Given the description of an element on the screen output the (x, y) to click on. 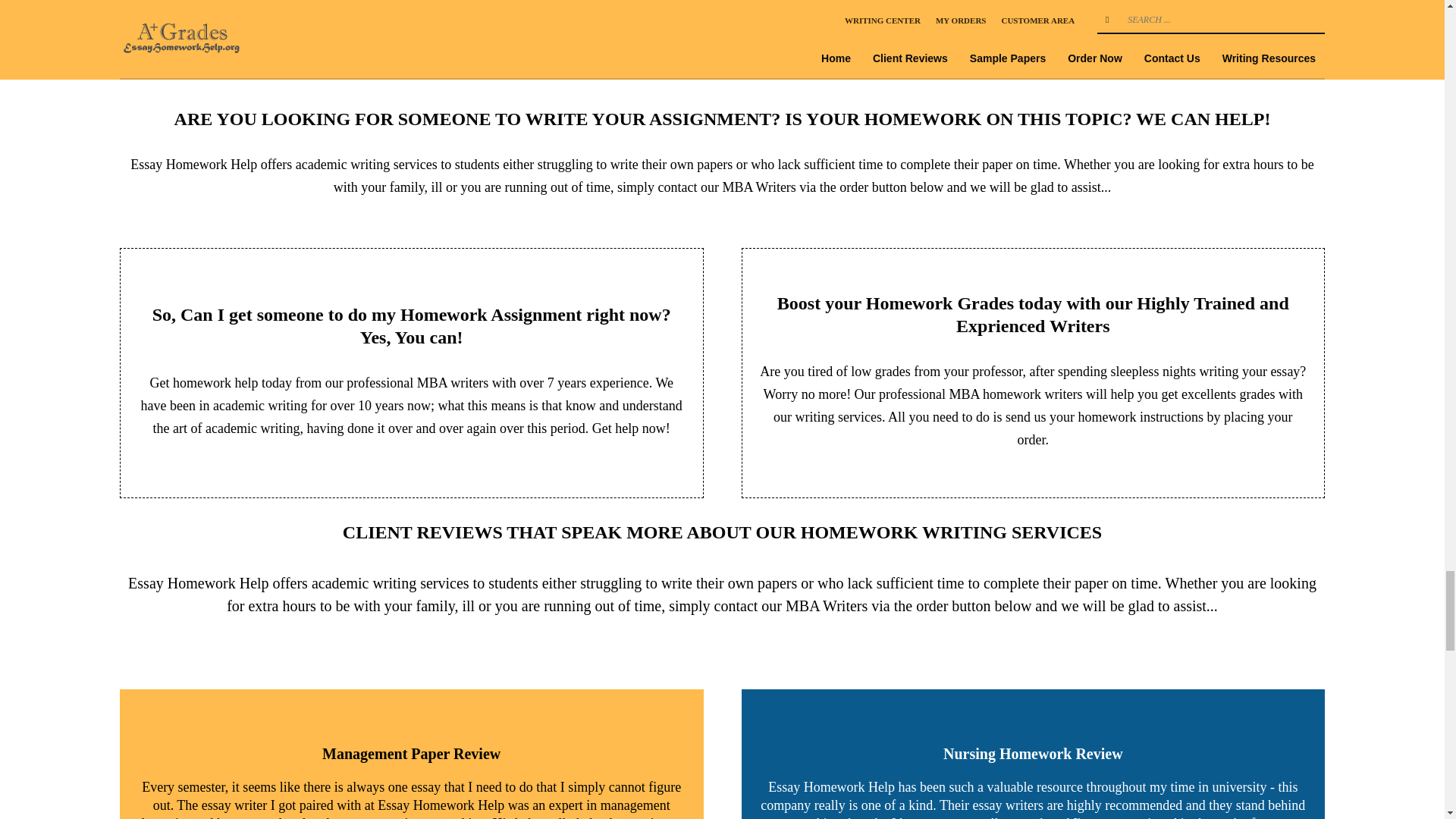
HOW TO WRITE HOMEWORK (1137, 6)
